Given the description of an element on the screen output the (x, y) to click on. 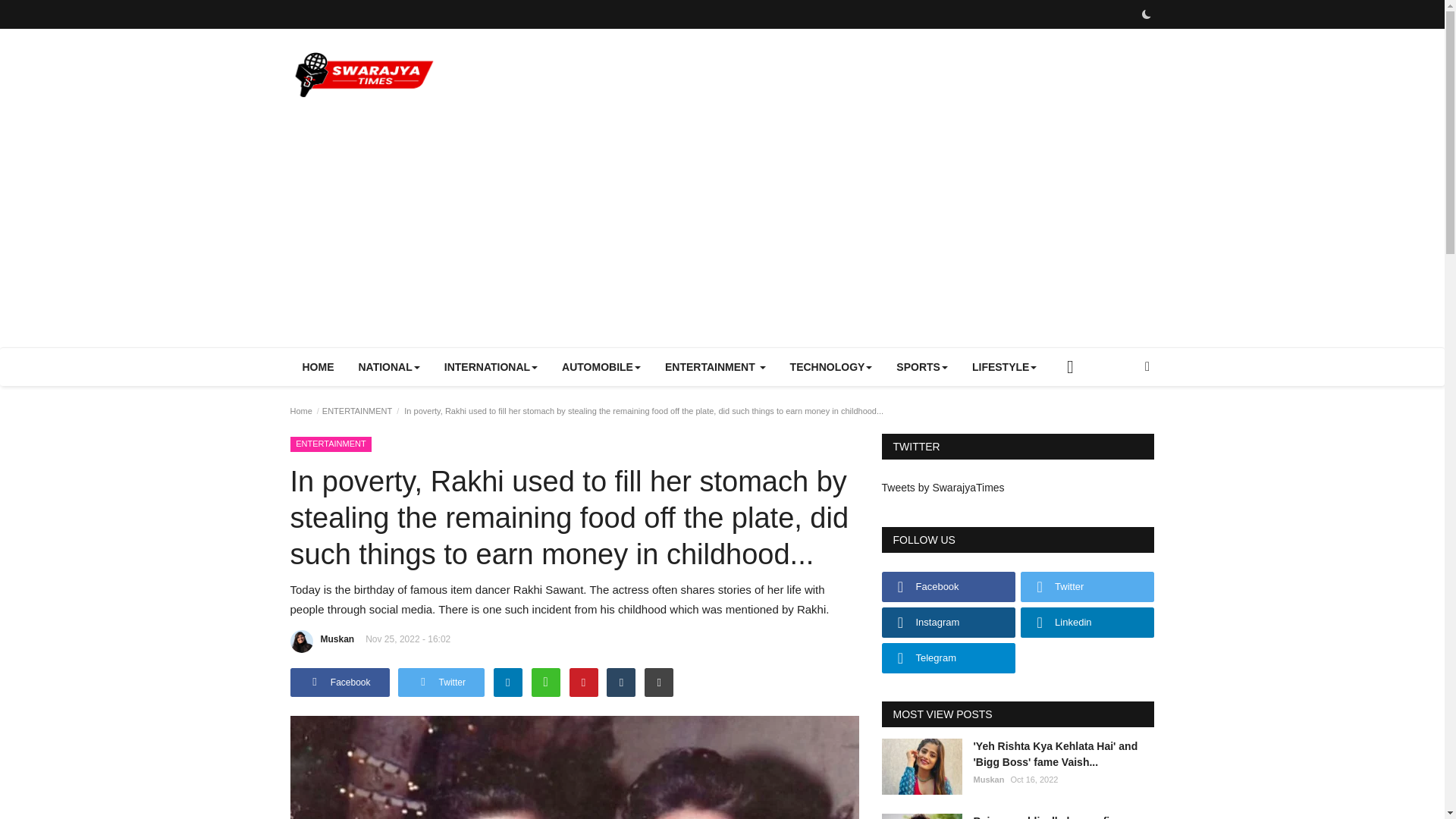
INTERNATIONAL (491, 366)
HOME (317, 366)
AUTOMOBILE (601, 366)
NATIONAL (388, 366)
